Given the description of an element on the screen output the (x, y) to click on. 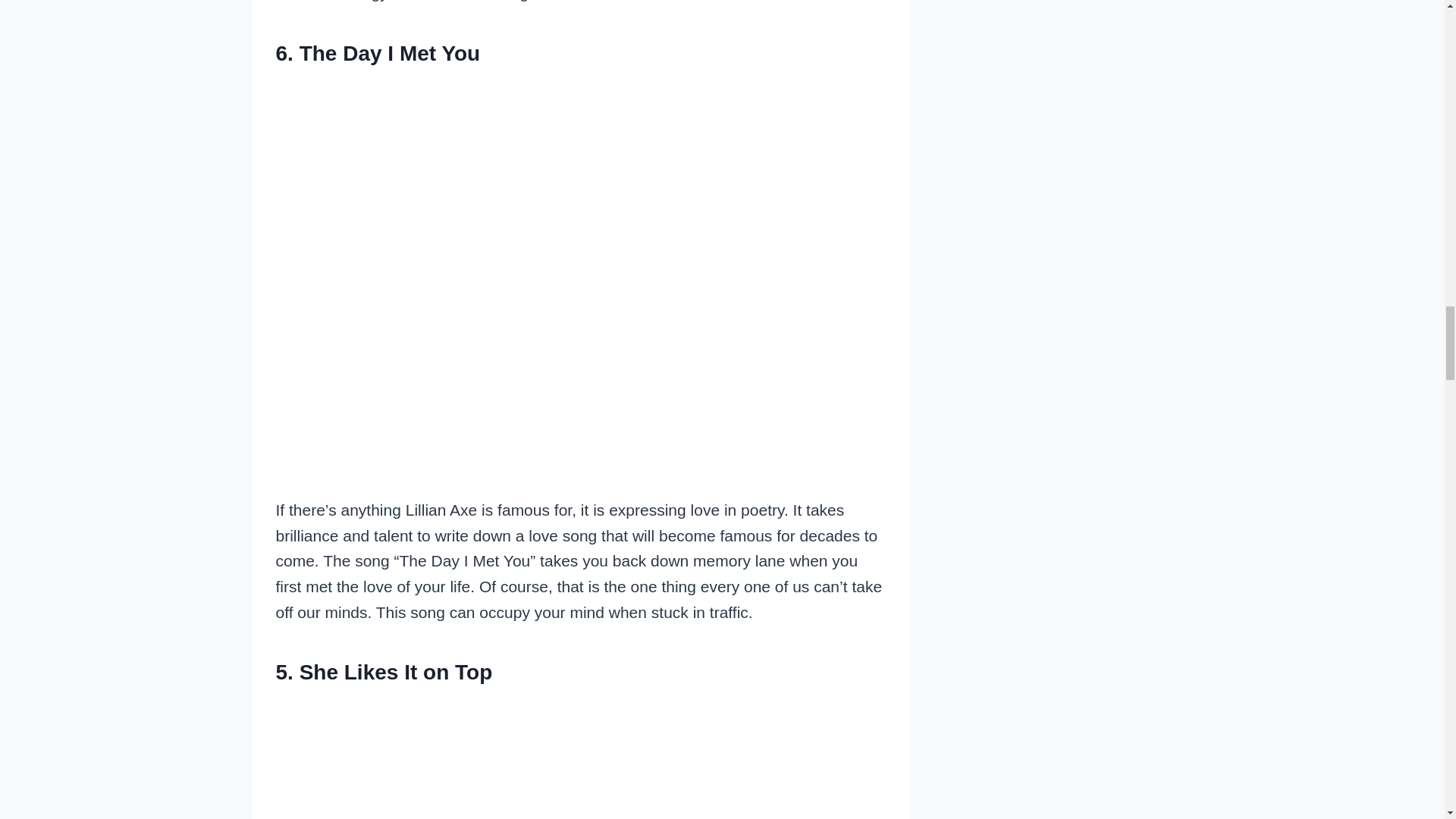
She Likes It On Top (581, 759)
